Given the description of an element on the screen output the (x, y) to click on. 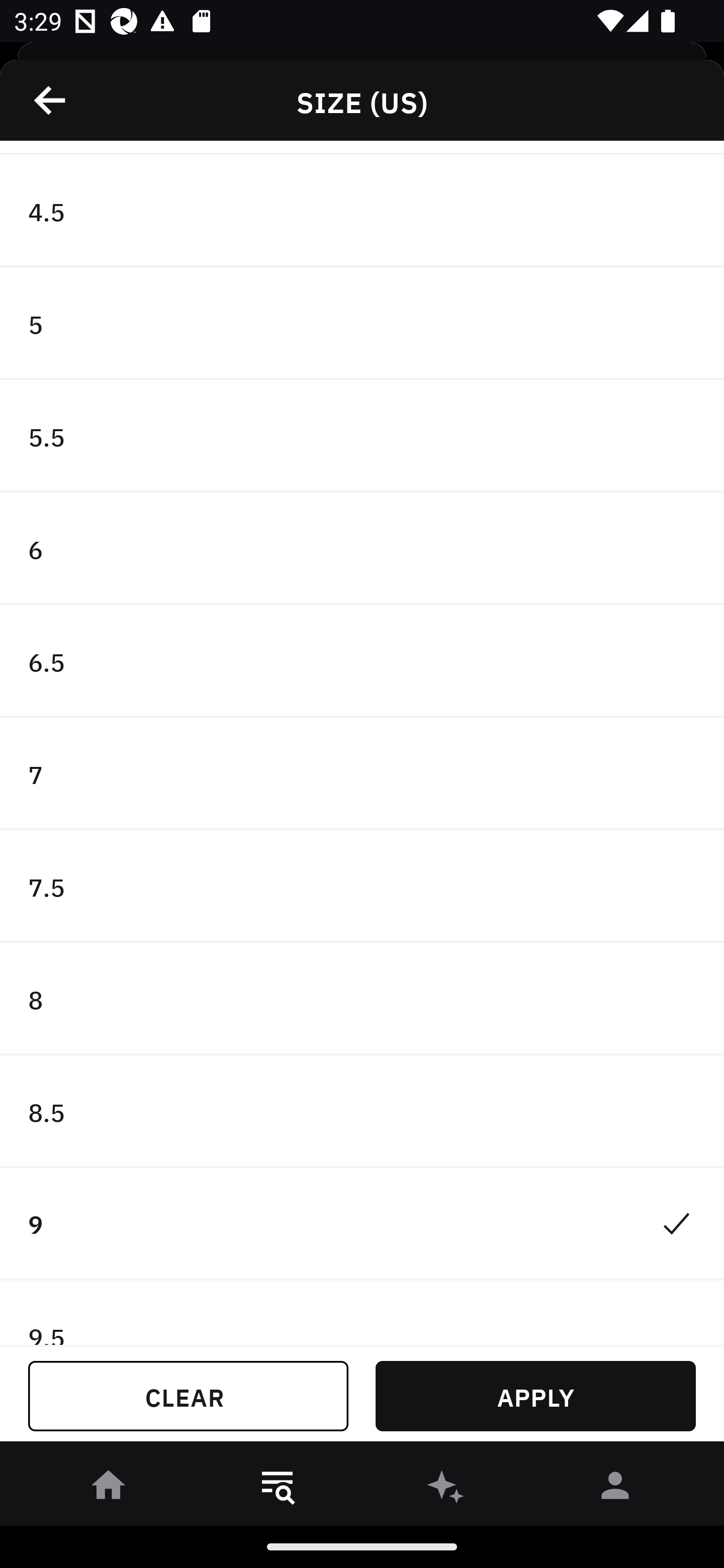
 (50, 100)
4.5 (362, 211)
5 (362, 323)
5.5 (362, 435)
6 (362, 548)
6.5 (362, 661)
7 (362, 773)
7.5 (362, 885)
8 (362, 998)
8.5 (362, 1111)
9  (362, 1224)
CLEAR  (188, 1396)
APPLY (535, 1396)
󰋜 (108, 1488)
󱎸 (277, 1488)
󰫢 (446, 1488)
󰀄 (615, 1488)
